Given the description of an element on the screen output the (x, y) to click on. 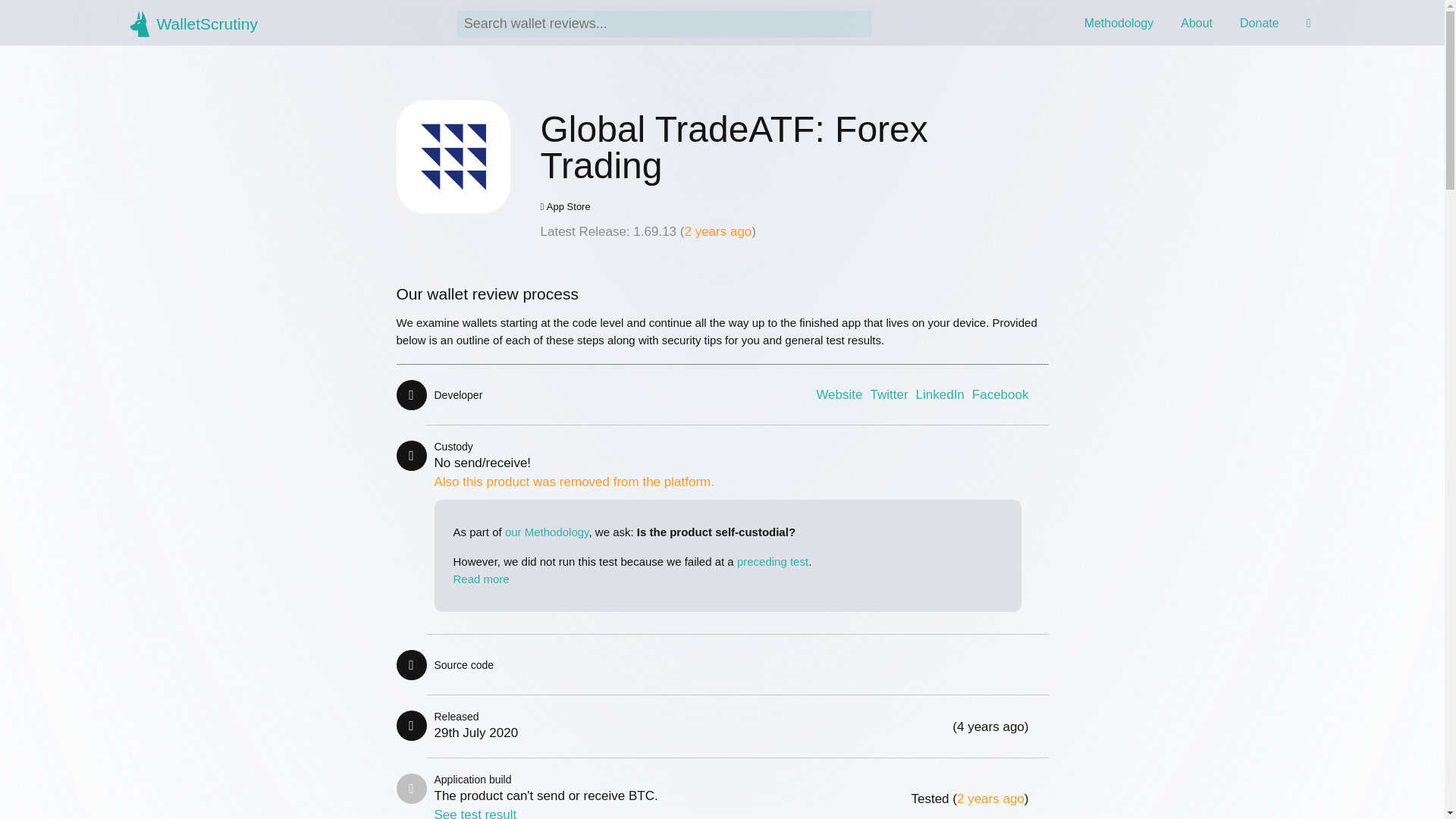
Donate (1259, 23)
Twitter (888, 394)
App Store (794, 206)
Twitter (888, 394)
LinkedIn (939, 394)
Facebook (1000, 394)
Facebook (1000, 394)
LinkedIn (939, 394)
preceding test (772, 561)
About (1196, 23)
